Given the description of an element on the screen output the (x, y) to click on. 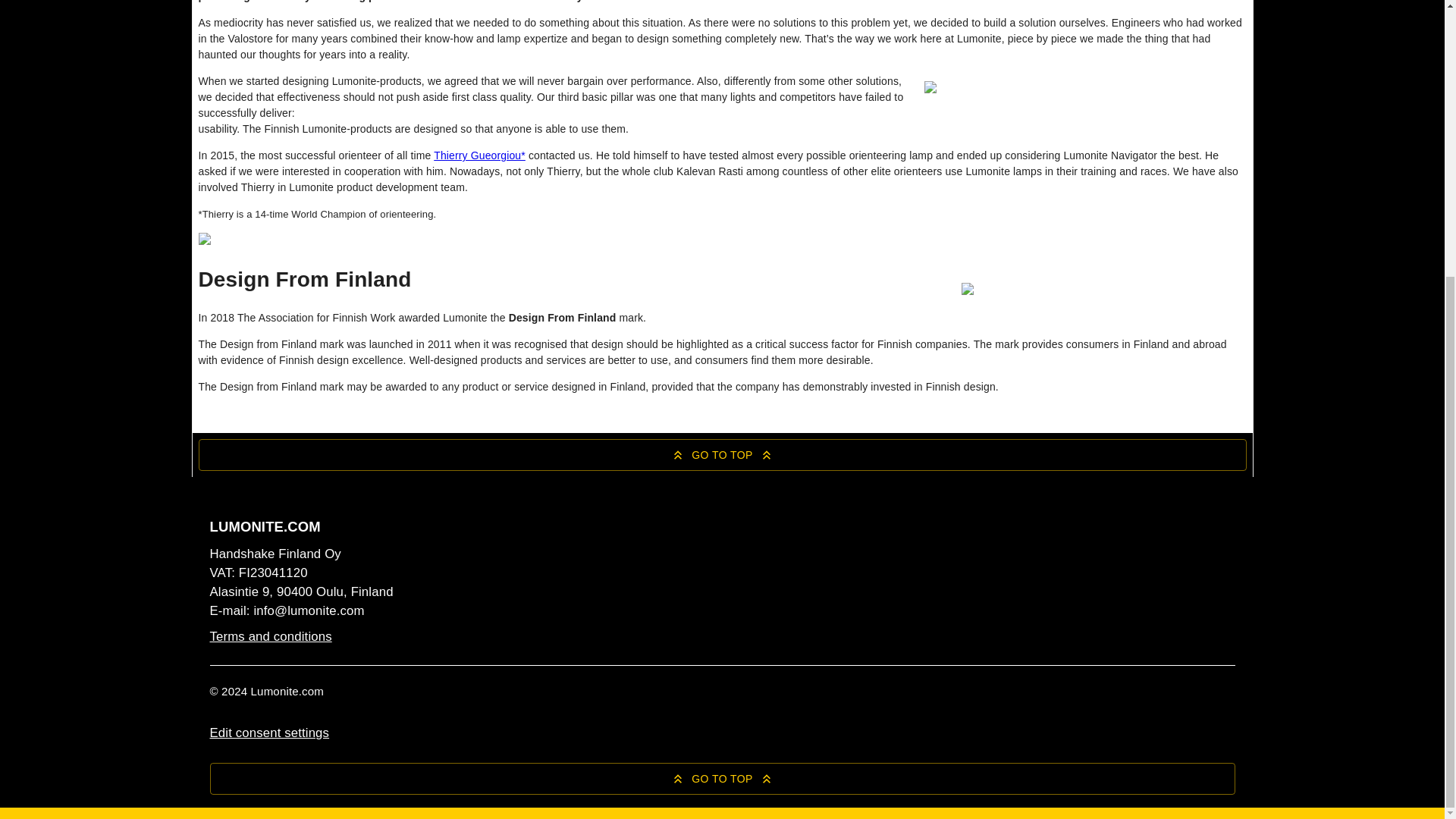
Edit consent settings (269, 732)
GO TO TOP (721, 778)
GO TO TOP (722, 454)
Terms and conditions (270, 636)
